Given the description of an element on the screen output the (x, y) to click on. 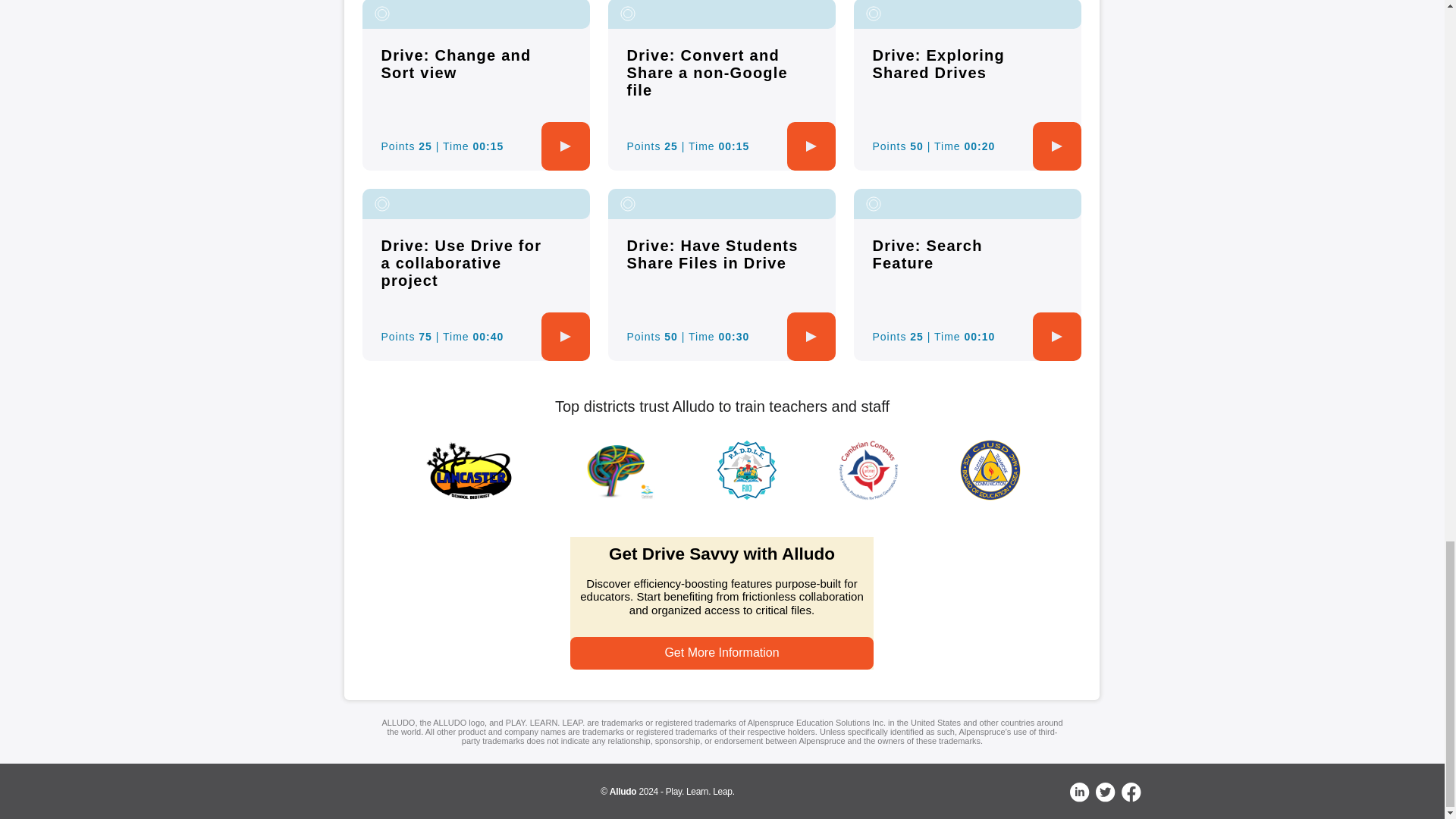
Embedded CTA (721, 603)
Drive: Change and Sort view (455, 63)
Drive: Convert and Share a non-Google file (706, 72)
Drive: Use Drive for a collaborative project (460, 263)
Drive: Exploring Shared Drives (938, 63)
Drive: Search Feature (926, 254)
Alludo (623, 791)
Drive: Have Students Share Files in Drive (711, 254)
